Given the description of an element on the screen output the (x, y) to click on. 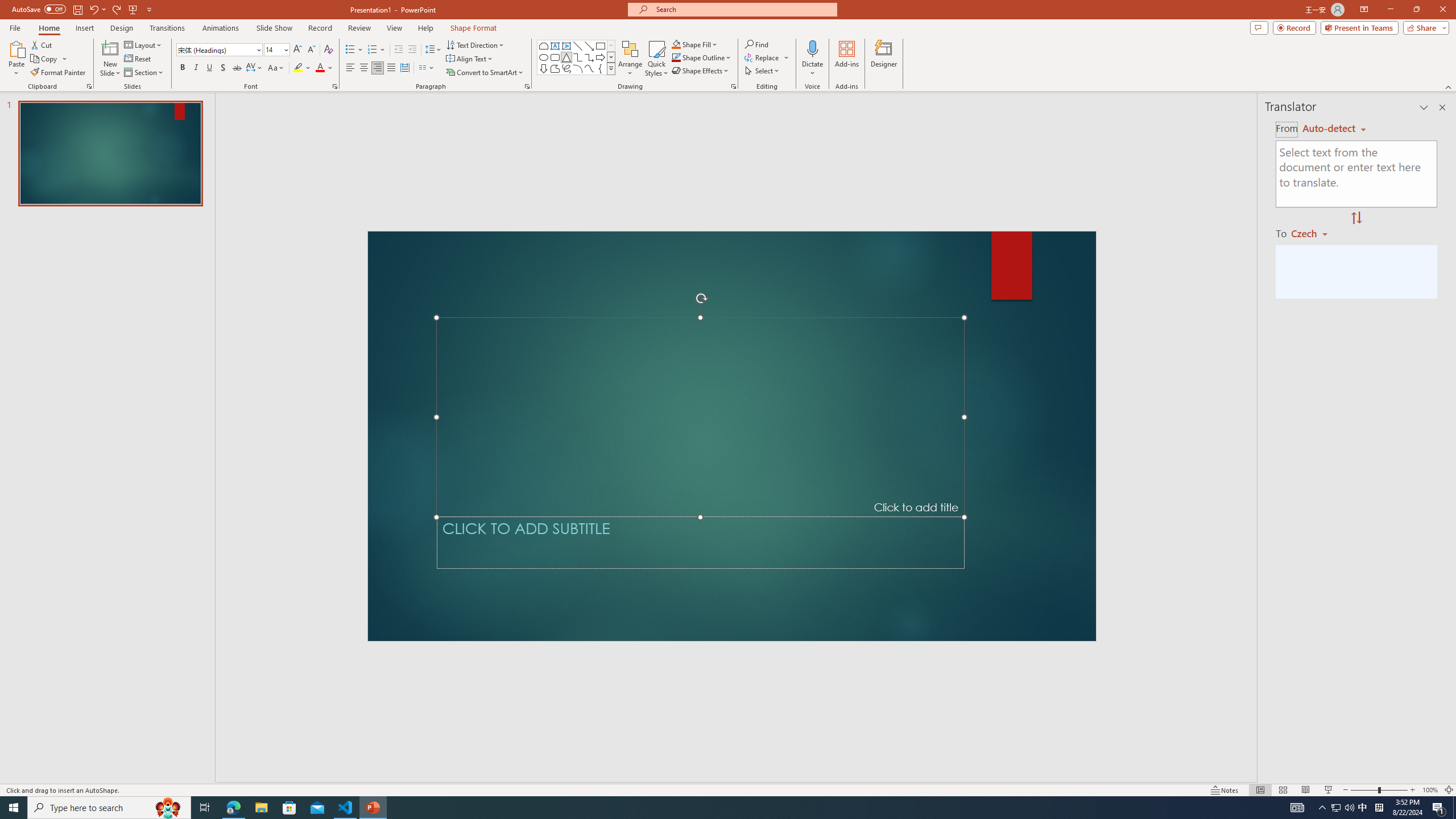
Shape Effects (700, 69)
